Given the description of an element on the screen output the (x, y) to click on. 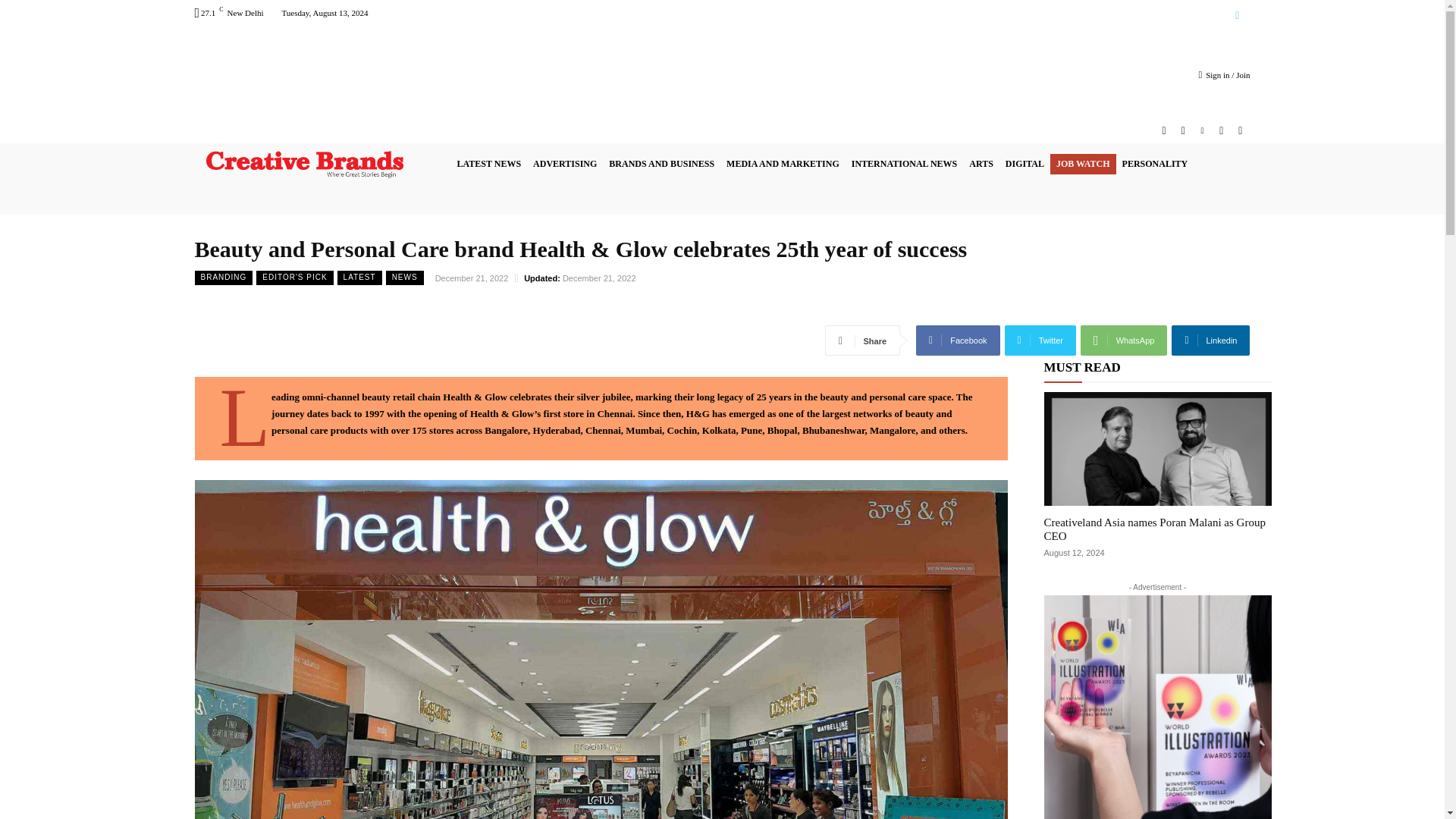
BRANDS AND BUSINESS (661, 163)
LATEST NEWS (488, 163)
ADVERTISING (564, 163)
